Given the description of an element on the screen output the (x, y) to click on. 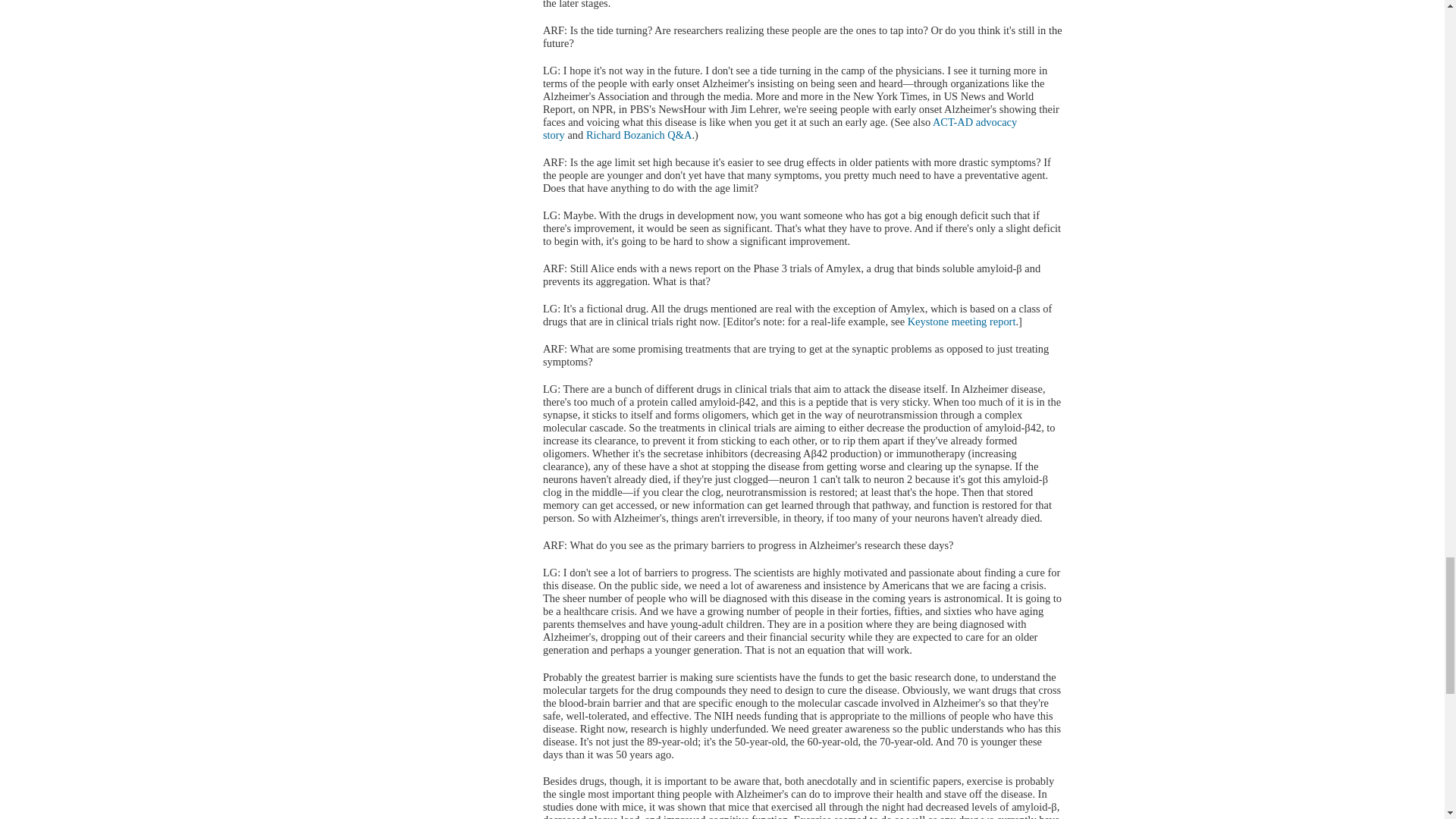
Keystone meeting report (961, 321)
ACT-AD advocacy story (779, 128)
